Given the description of an element on the screen output the (x, y) to click on. 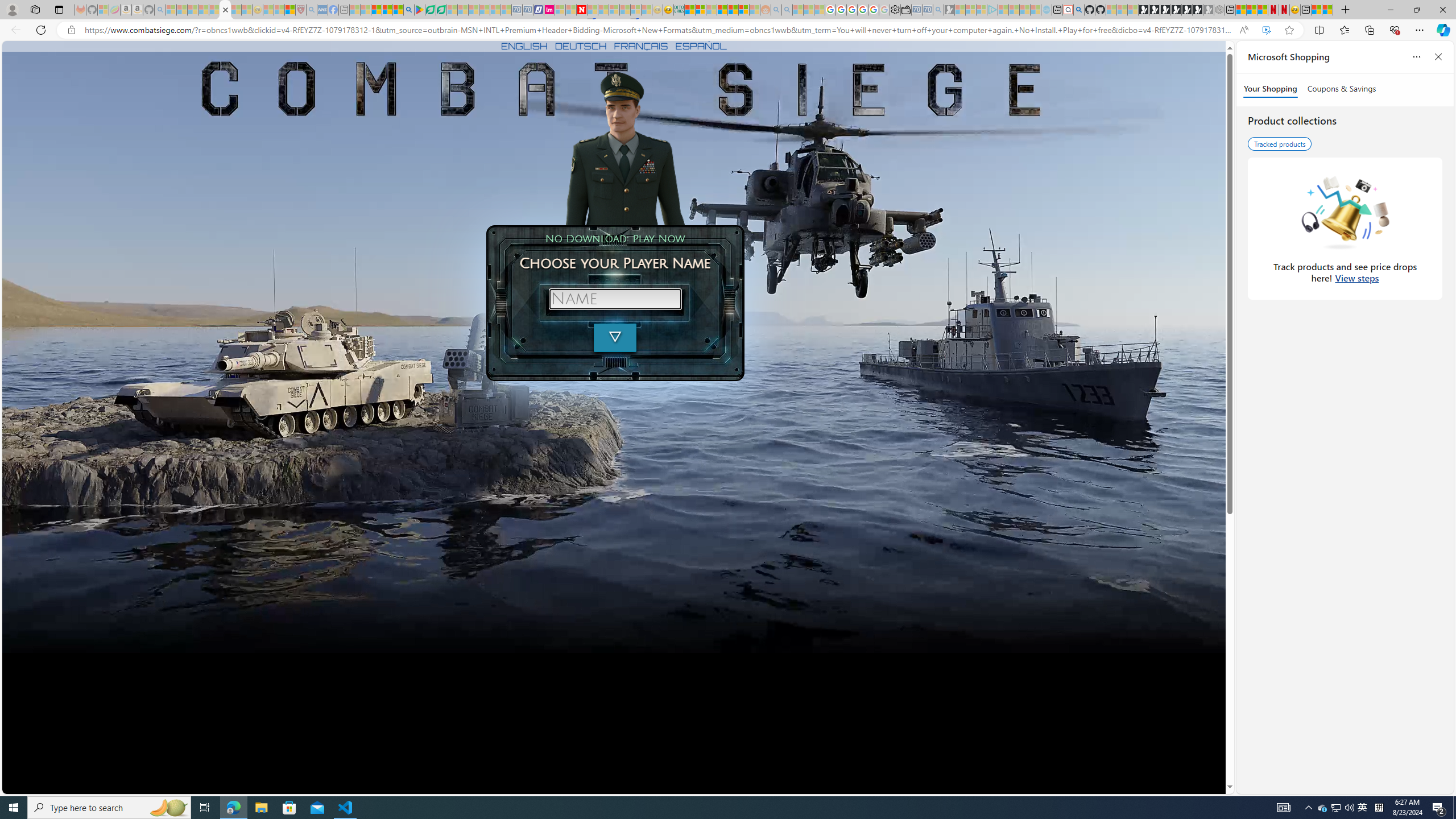
Kinda Frugal - MSN (733, 9)
Wildlife - MSN (1316, 9)
